Given the description of an element on the screen output the (x, y) to click on. 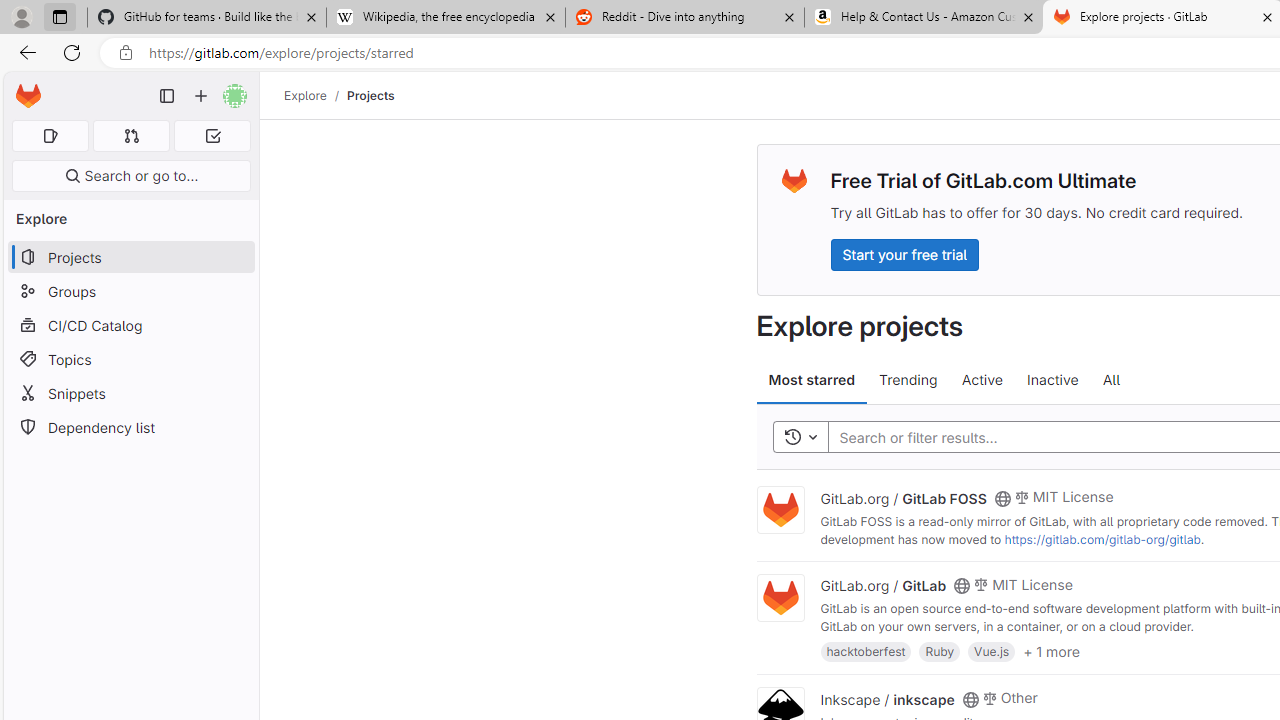
Class: s16 (970, 699)
Primary navigation sidebar (167, 96)
hacktoberfest (866, 650)
CI/CD Catalog (130, 325)
Explore/ (316, 95)
Assigned issues 0 (50, 136)
Vue.js (991, 650)
Inkscape / inkscape (887, 698)
Most starred (811, 379)
